Given the description of an element on the screen output the (x, y) to click on. 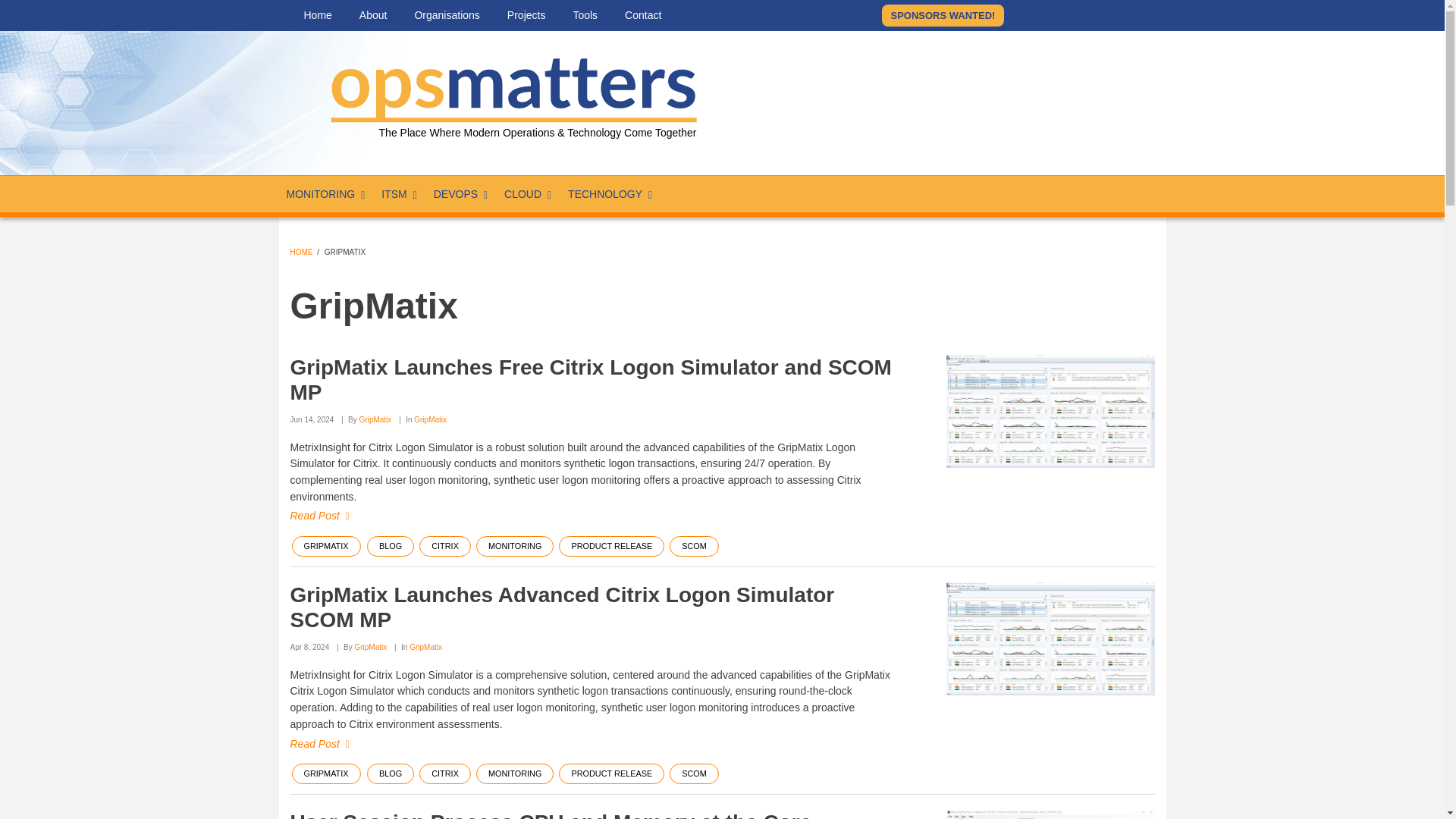
TECHNOLOGY (610, 194)
GripMatix (1050, 411)
Home (509, 86)
GripMatix (1050, 639)
Projects (526, 15)
ITSM (399, 194)
SPONSORS WANTED! (942, 15)
CLOUD (528, 194)
Organisations (446, 15)
Tools (585, 15)
MONITORING (326, 194)
Home (317, 15)
Contact (643, 15)
GripMatix (1050, 814)
DEVOPS (461, 194)
